Given the description of an element on the screen output the (x, y) to click on. 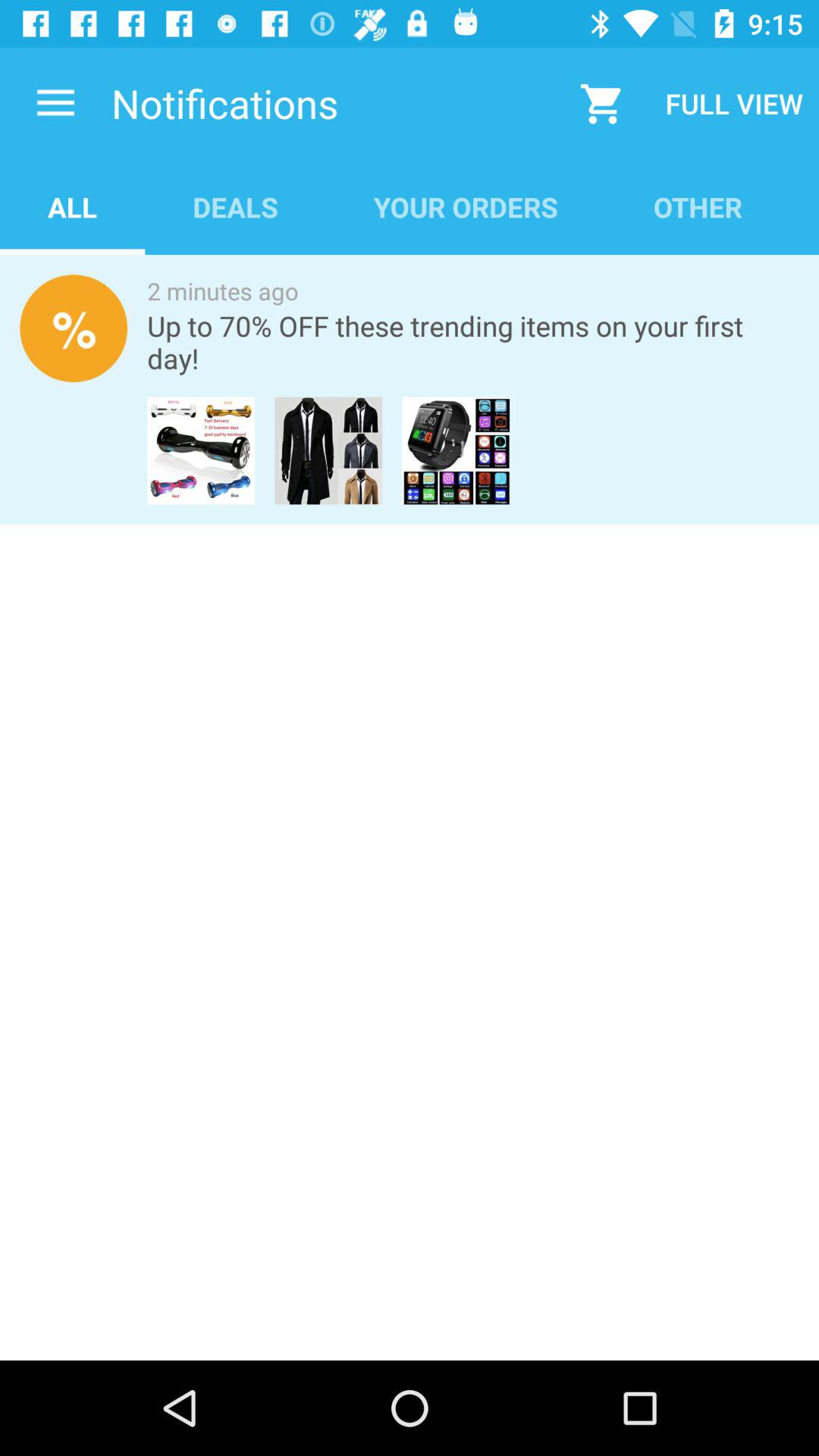
tap the all icon (72, 206)
